Given the description of an element on the screen output the (x, y) to click on. 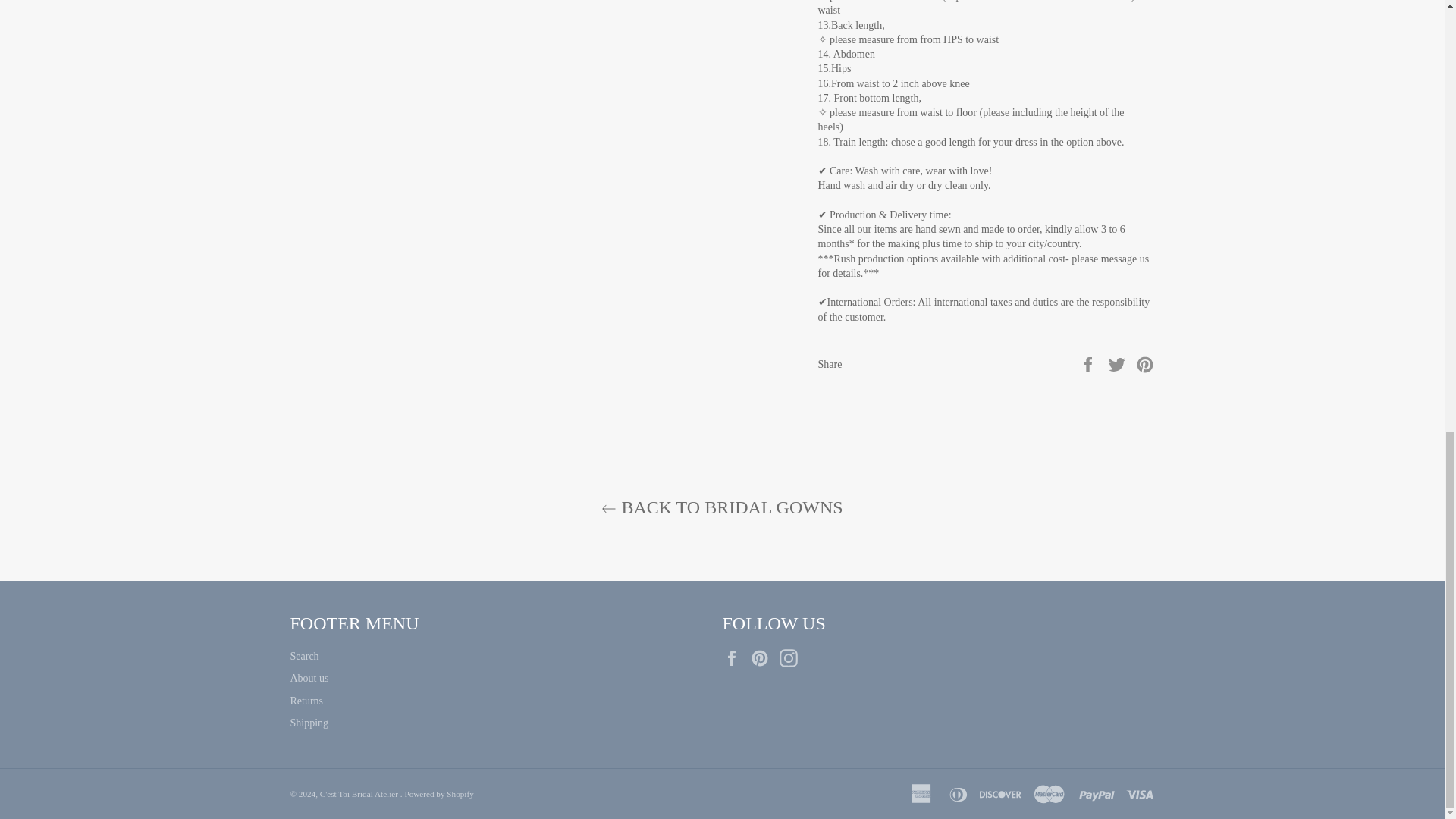
Pin on Pinterest (1144, 363)
C'est Toi Bridal Atelier  on Pinterest (763, 658)
Share on Facebook (1089, 363)
Tweet on Twitter (1118, 363)
C'est Toi Bridal Atelier  on Facebook (735, 658)
C'est Toi Bridal Atelier  on Instagram (791, 658)
